Given the description of an element on the screen output the (x, y) to click on. 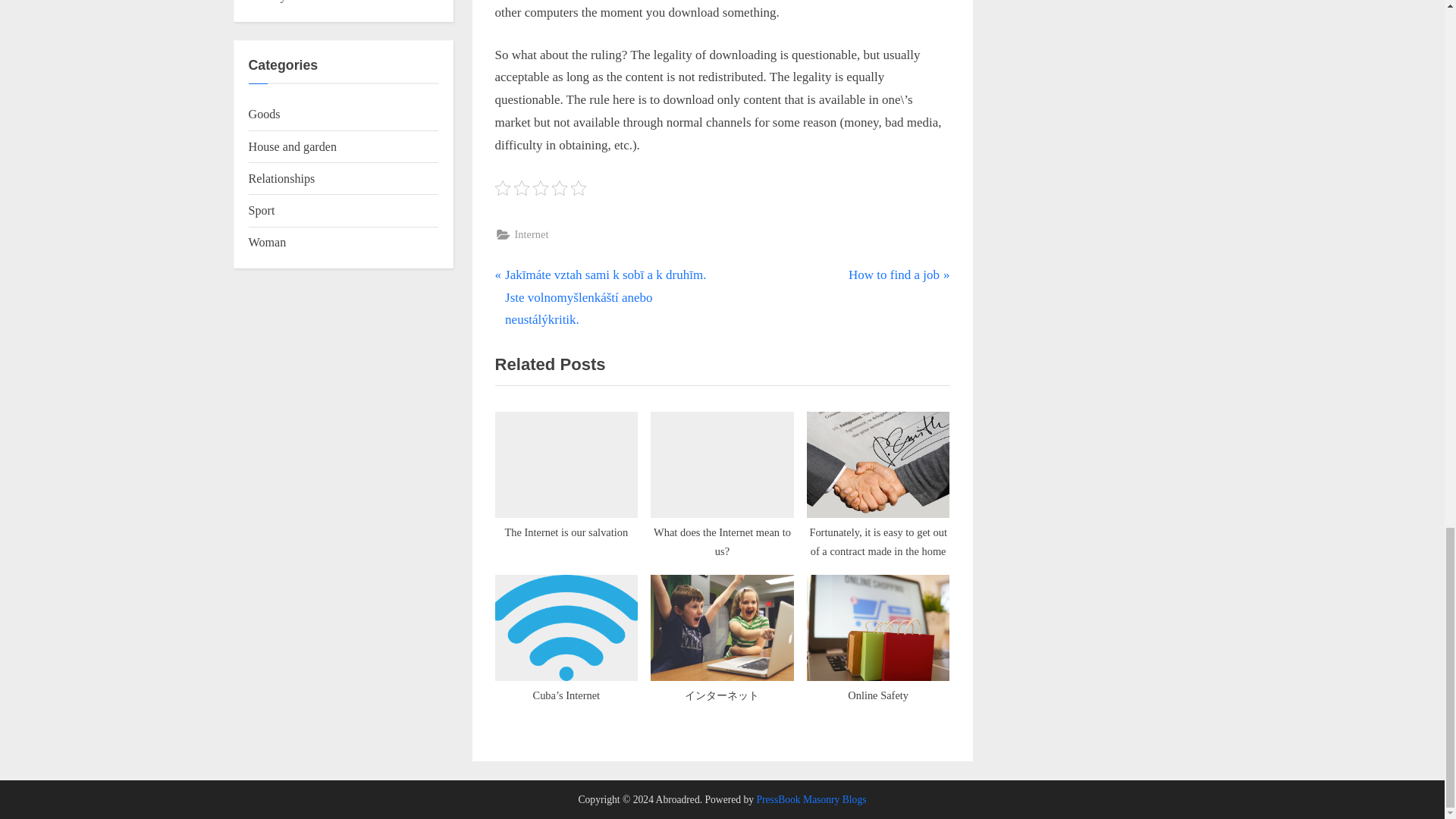
What does the Internet mean to us? (899, 274)
The Internet is our salvation (721, 483)
Online Safety (566, 483)
Internet (878, 646)
